Given the description of an element on the screen output the (x, y) to click on. 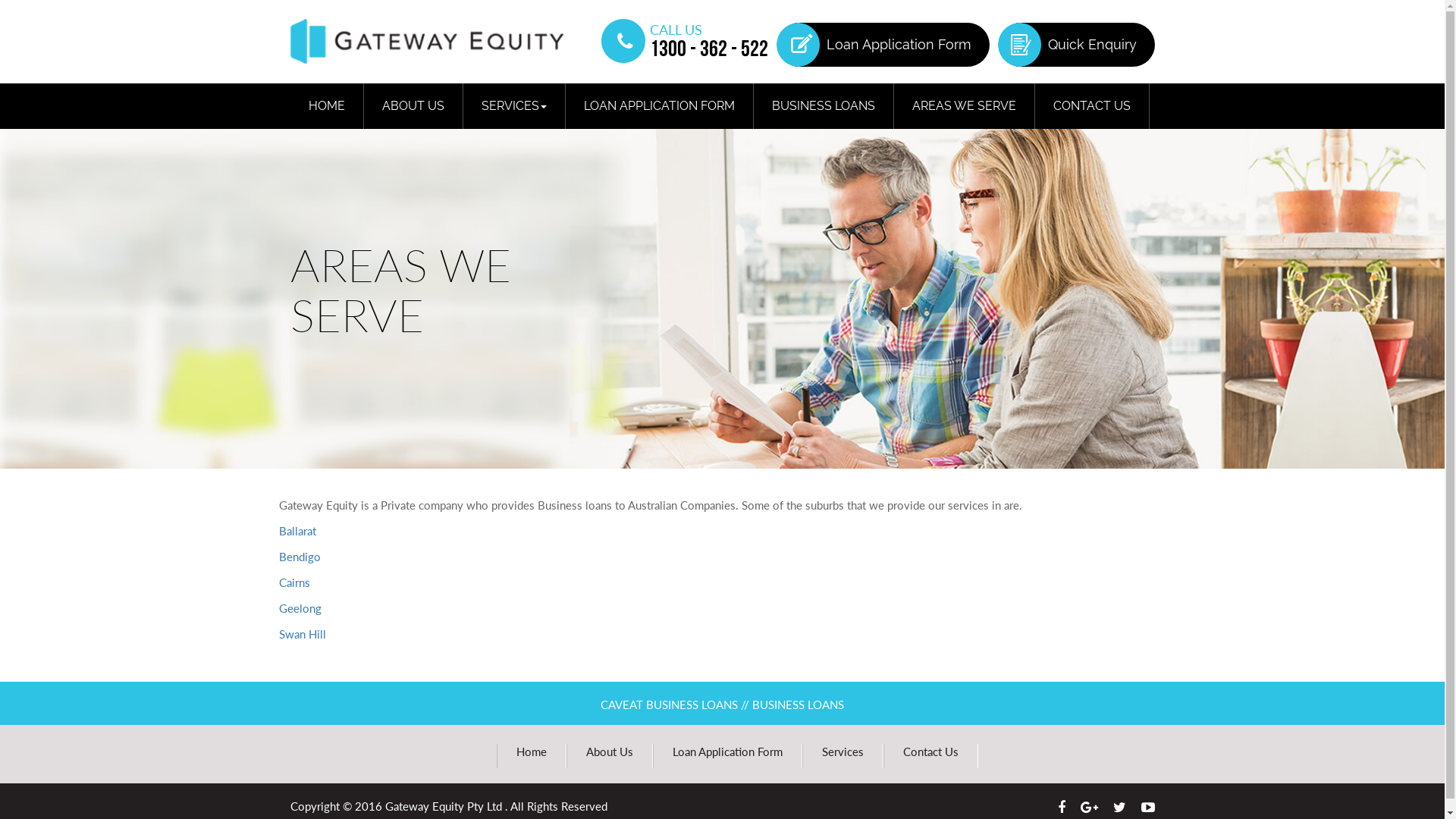
Home Element type: text (531, 751)
CONTACT US Element type: text (1091, 105)
Services Element type: text (842, 751)
ABOUT US Element type: text (413, 105)
Loan Application Form Element type: text (727, 751)
Cairns Element type: text (294, 582)
Bendigo Element type: text (299, 556)
Ballarat Element type: text (297, 530)
Loan Application Form Element type: text (883, 44)
About Us Element type: text (609, 751)
Geelong Element type: text (300, 608)
AREAS WE SERVE Element type: text (963, 105)
Swan Hill Element type: text (302, 633)
SERVICES Element type: text (513, 105)
Contact Us Element type: text (930, 751)
LOAN APPLICATION FORM Element type: text (659, 105)
BUSINESS LOANS Element type: text (823, 105)
HOME Element type: text (325, 105)
1300 - 362 - 522 Element type: text (708, 50)
Quick Enquiry Element type: text (1075, 44)
